Given the description of an element on the screen output the (x, y) to click on. 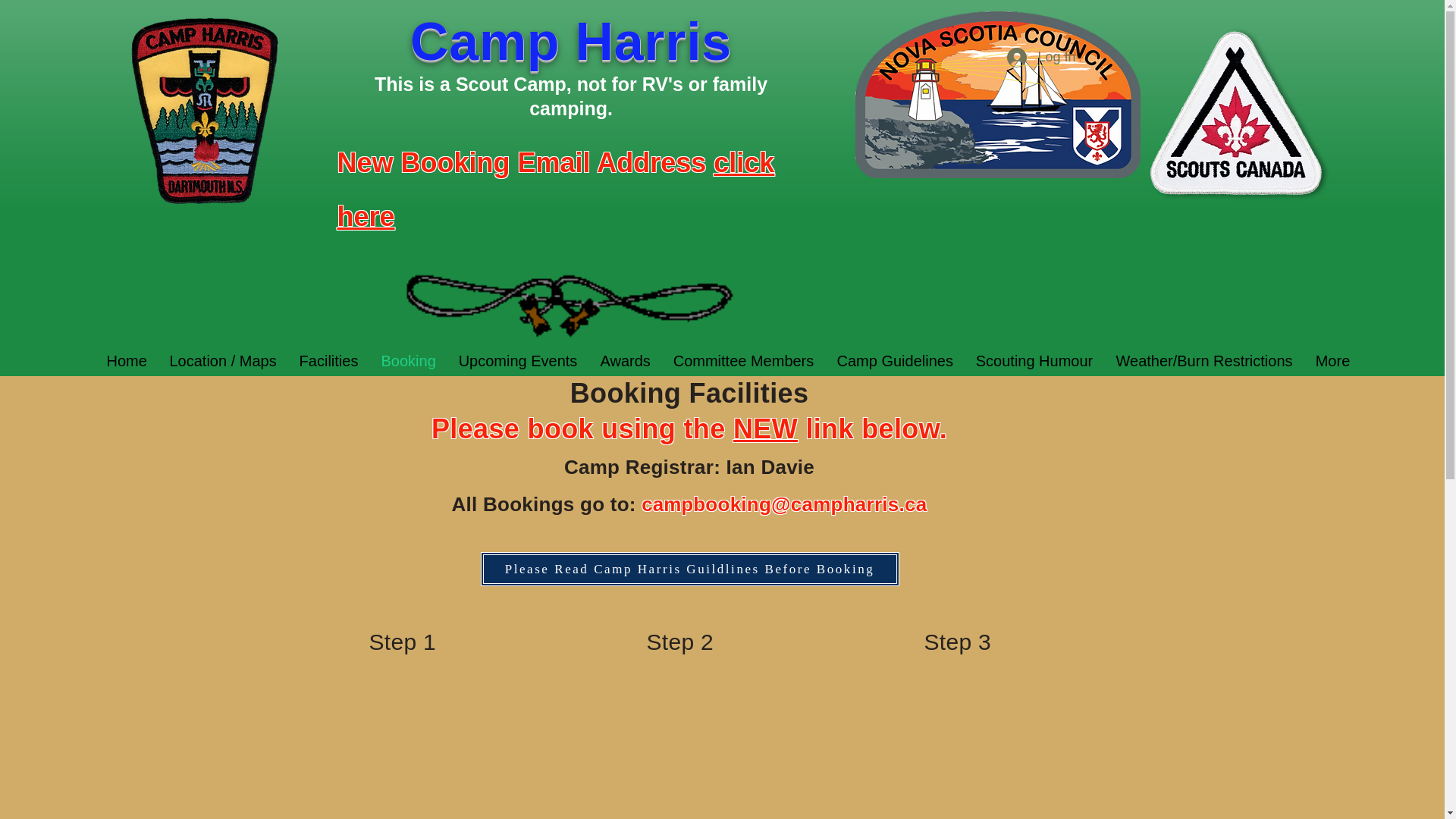
This is a Scout Camp, not for RV's or family camping. (570, 95)
Camp Guidelines (894, 360)
Awards (624, 360)
Log In (1040, 57)
Please Read Camp Harris Guildlines Before Booking (689, 569)
Facilities (328, 360)
Upcoming Events (517, 360)
New Booking Email Address click here (555, 186)
Camp Harris (571, 52)
Scouting Humour (1034, 360)
